Given the description of an element on the screen output the (x, y) to click on. 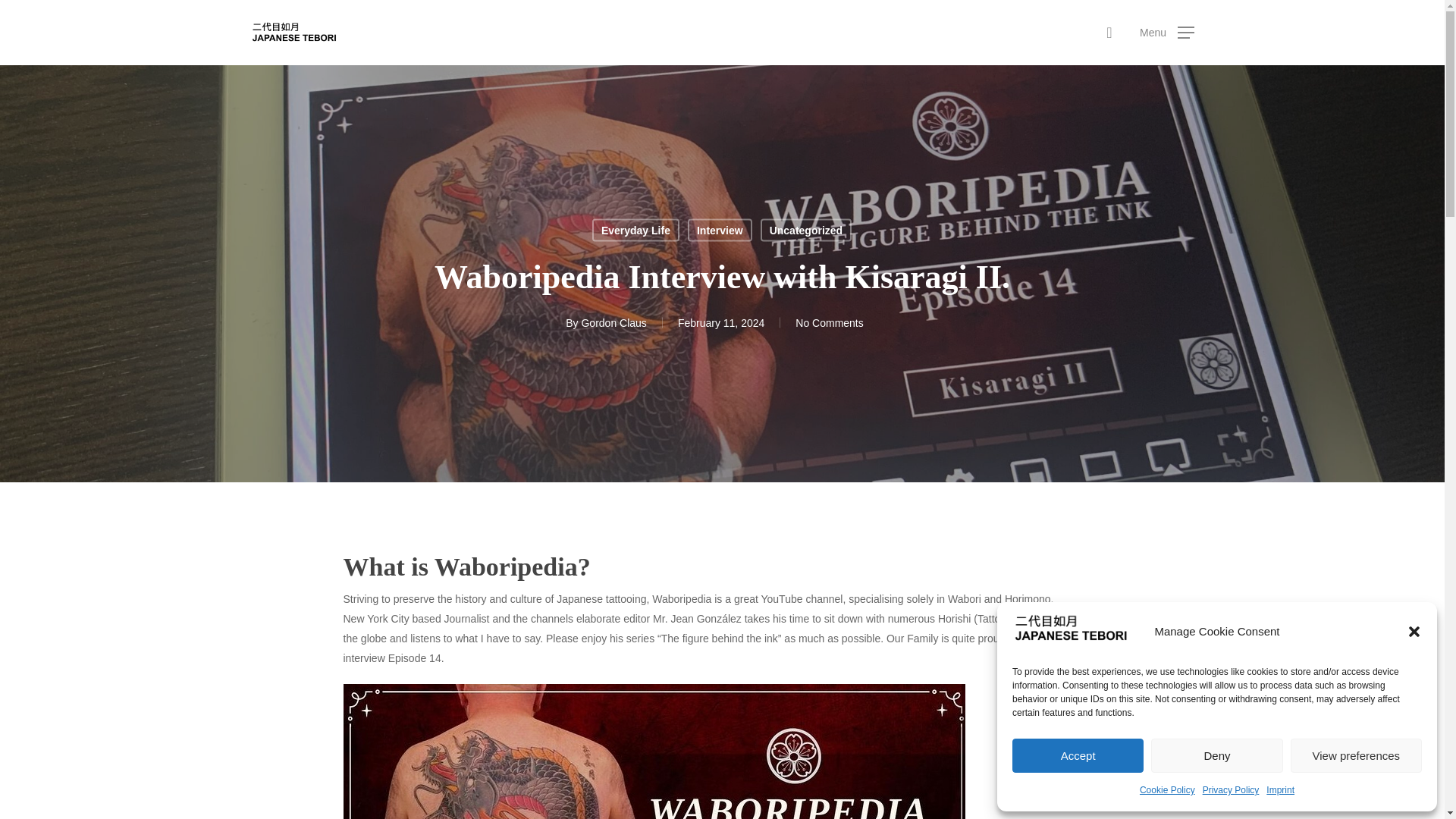
Uncategorized (805, 229)
Menu (1166, 32)
Everyday Life (635, 229)
Gordon Claus (613, 322)
Cookie Policy (1167, 790)
Privacy Policy (1230, 790)
Imprint (1280, 790)
search (1109, 32)
Posts by Gordon Claus (613, 322)
Interview (719, 229)
View preferences (1356, 755)
Accept (1076, 755)
No Comments (828, 322)
Deny (1216, 755)
